Given the description of an element on the screen output the (x, y) to click on. 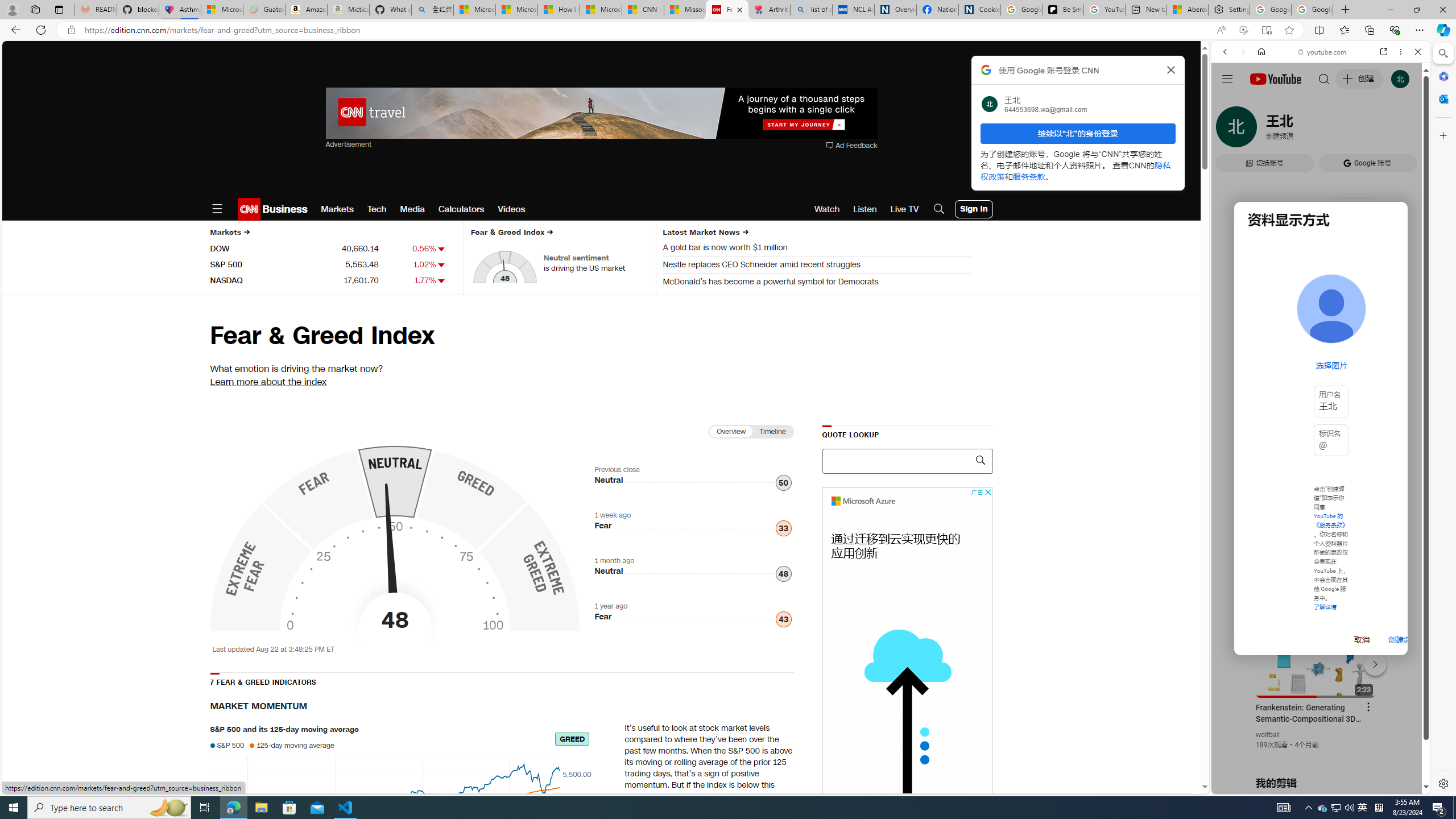
Fear and Greed Index - Investor Sentiment | CNN (726, 9)
Open link in new tab (1383, 51)
Asthma Inhalers: Names and Types (179, 9)
YouTube (1315, 655)
Media (412, 209)
#you (1315, 659)
Search Filter, IMAGES (1262, 129)
CNN logo (248, 209)
